Given the description of an element on the screen output the (x, y) to click on. 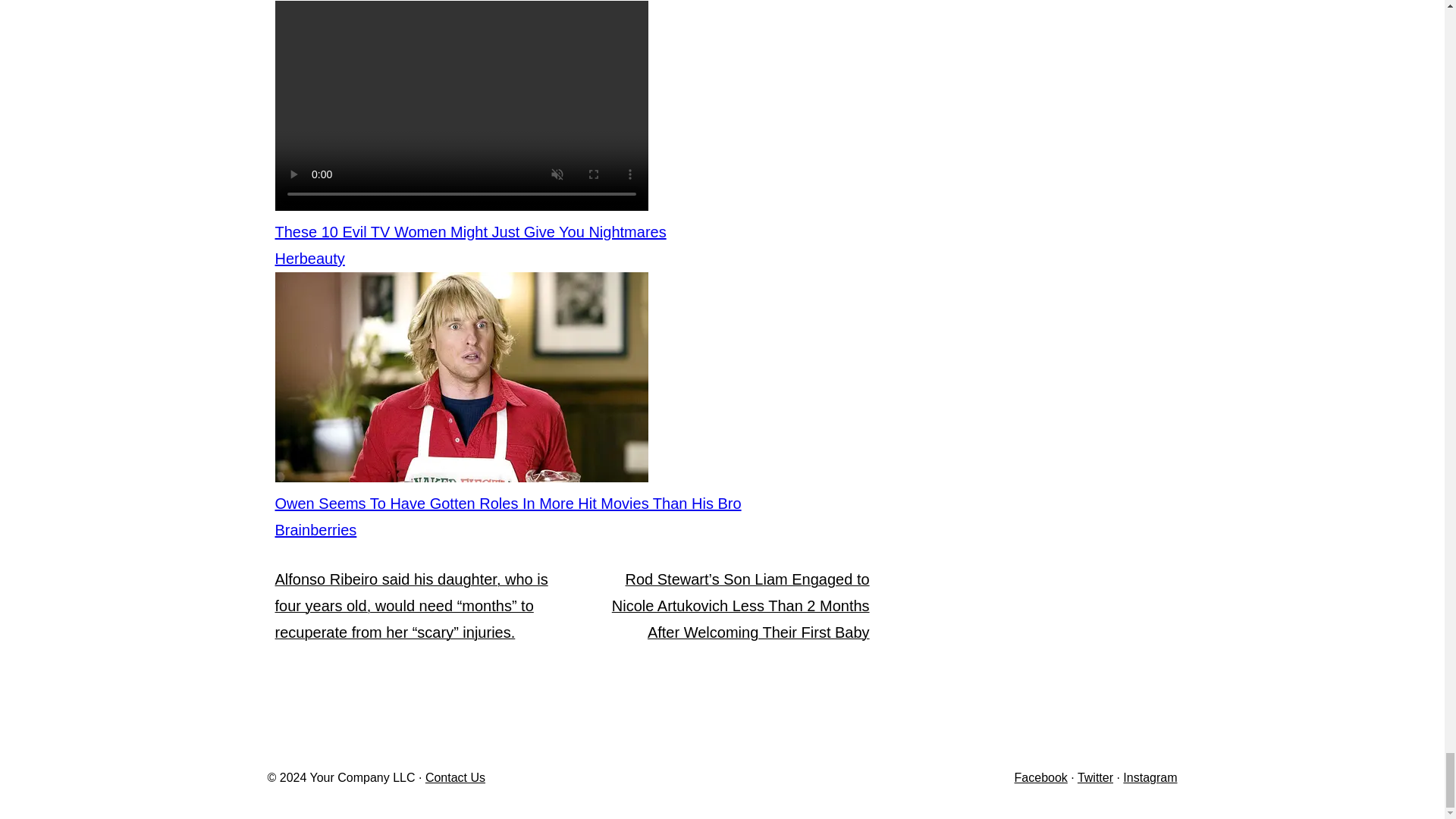
Instagram (1149, 777)
Contact Us (454, 777)
Twitter (1095, 777)
Facebook (1040, 777)
